Given the description of an element on the screen output the (x, y) to click on. 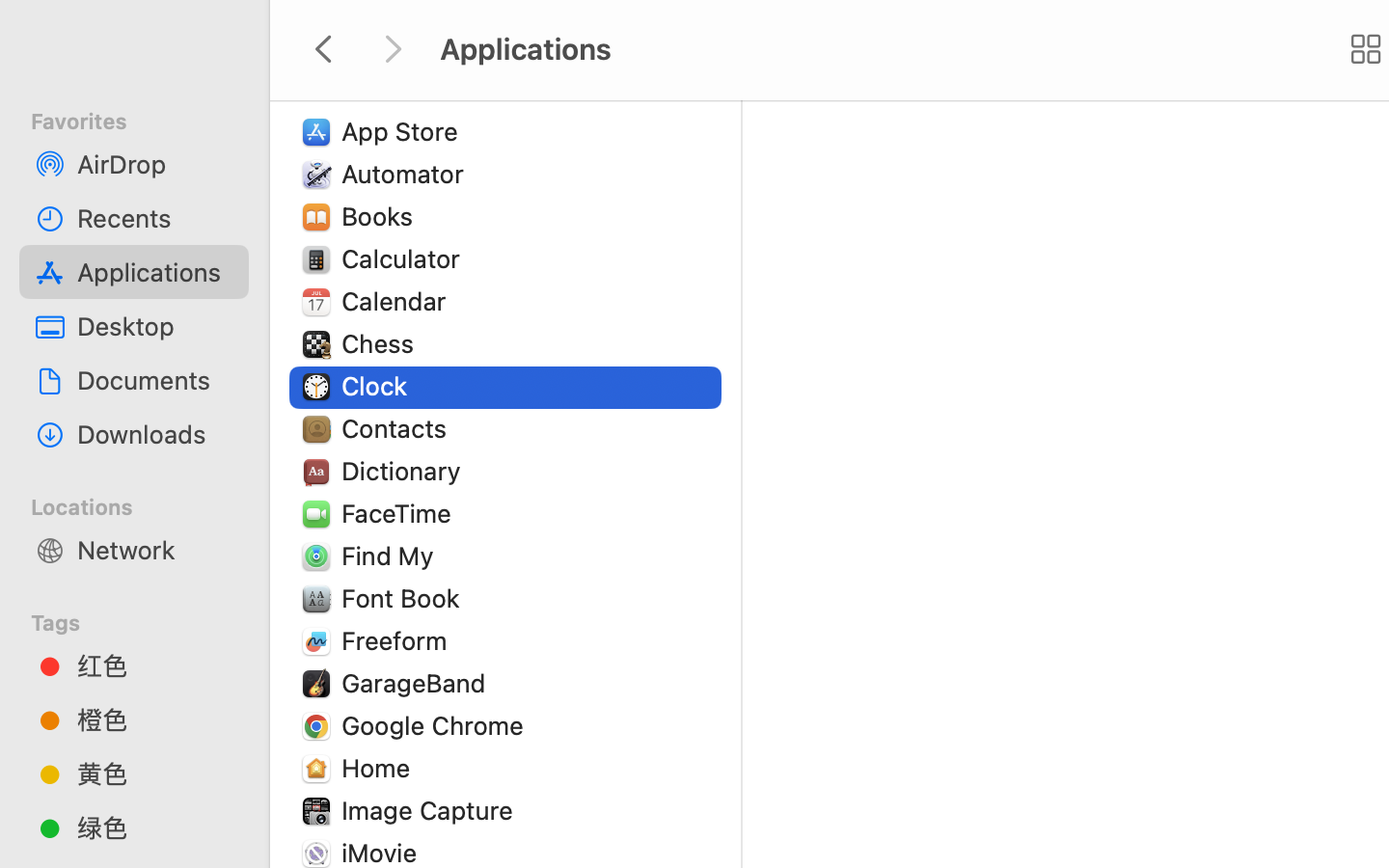
Freeform Element type: AXTextField (398, 639)
Contacts Element type: AXTextField (398, 427)
Locations Element type: AXStaticText (145, 504)
Home Element type: AXTextField (379, 767)
iMovie Element type: AXTextField (383, 852)
